Given the description of an element on the screen output the (x, y) to click on. 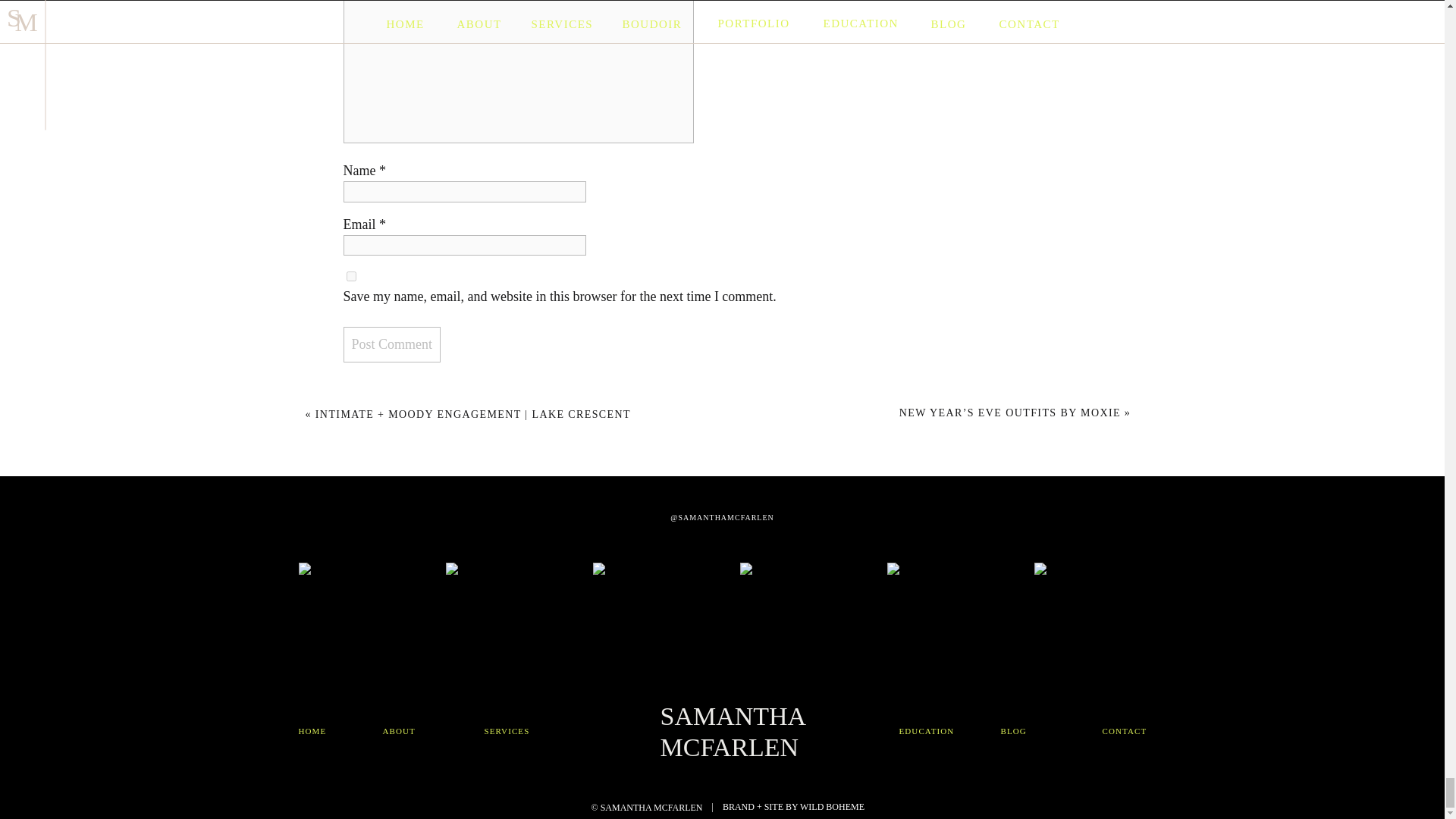
yes (350, 276)
Post Comment (391, 344)
CONTACT (1124, 730)
SAMANTHA MCFARLEN (727, 730)
Post Comment (391, 344)
BLOG (1031, 730)
EDUCATION (933, 730)
ABOUT (412, 730)
SERVICES (513, 730)
HOME (320, 730)
